Given the description of an element on the screen output the (x, y) to click on. 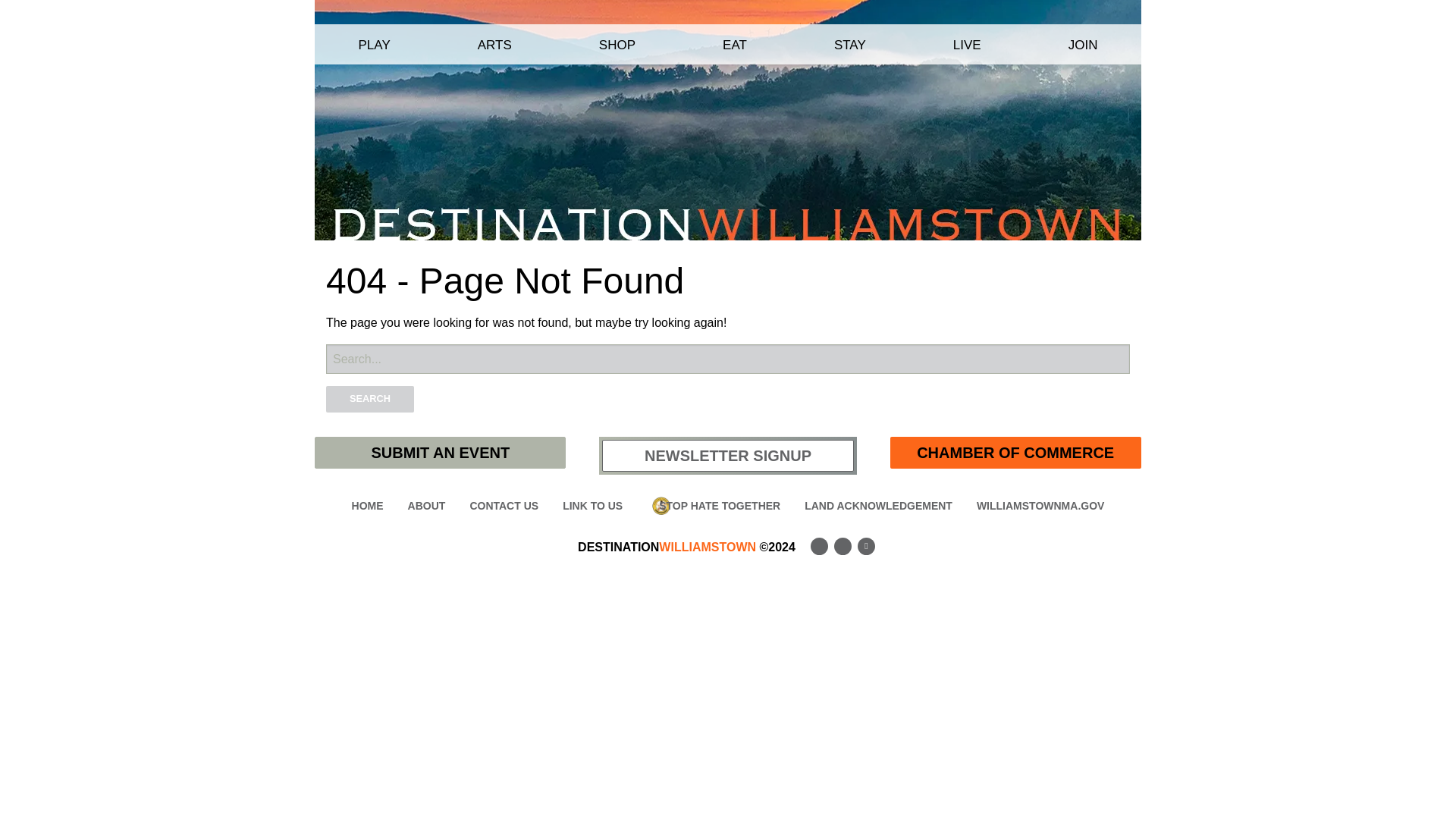
Search (369, 398)
Search (369, 398)
